Given the description of an element on the screen output the (x, y) to click on. 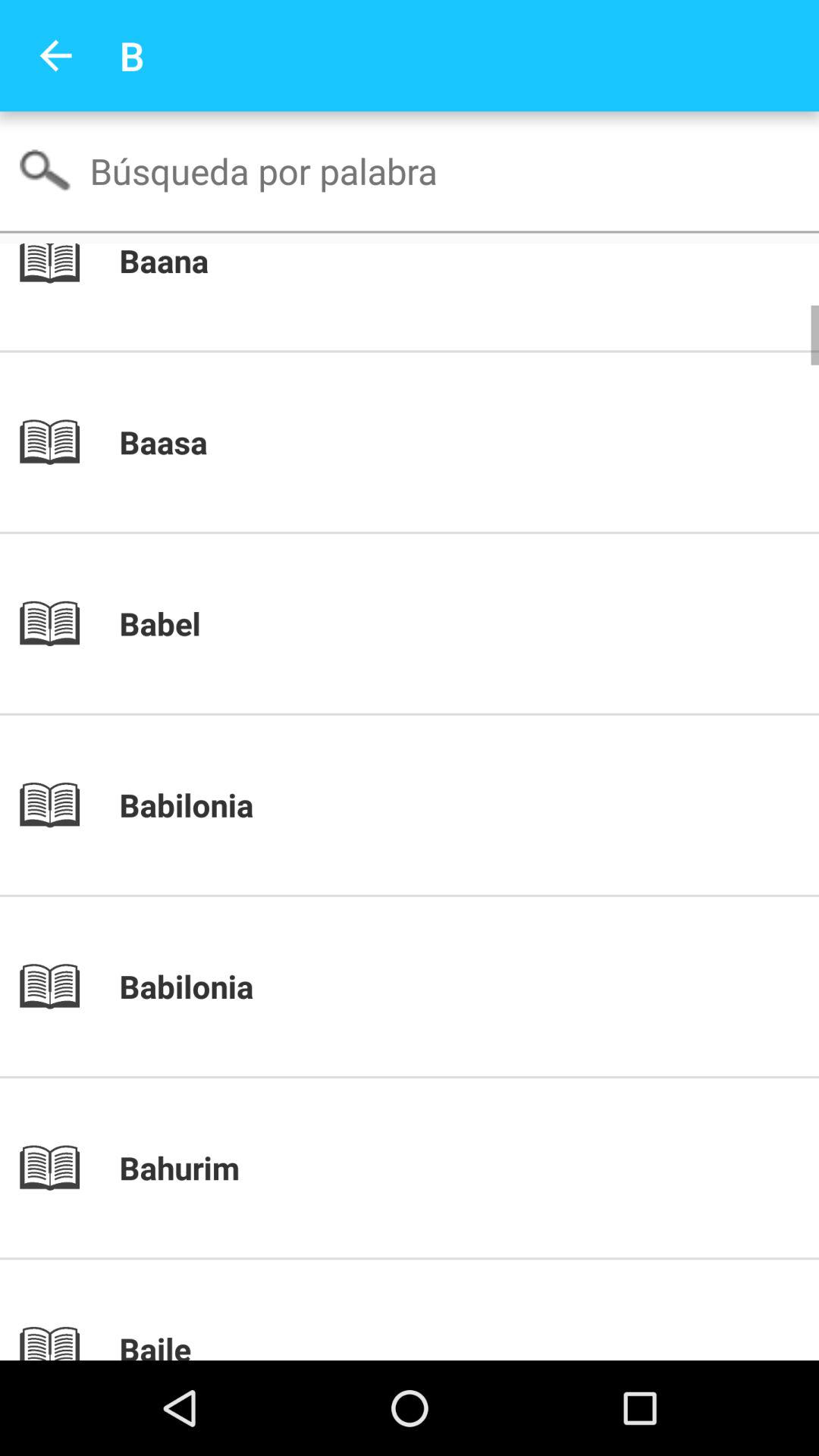
flip to baile icon (435, 1344)
